Given the description of an element on the screen output the (x, y) to click on. 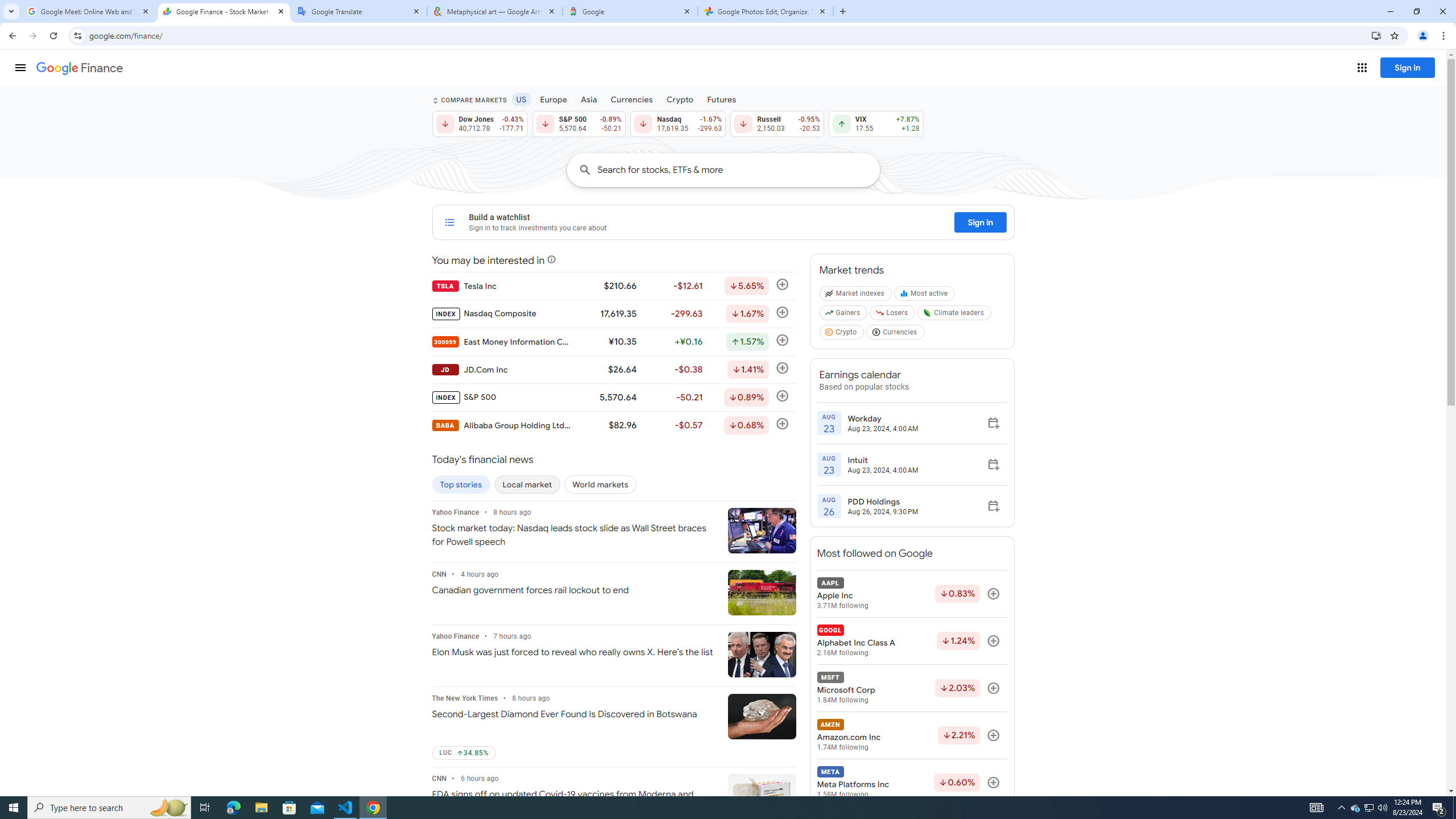
Currencies (631, 99)
Futures (721, 99)
Crypto (679, 99)
Currencies (896, 334)
Most active (925, 295)
INDEX S&P 500 5,570.64 -50.21 Down by 0.89% Follow (613, 396)
Gainers (844, 315)
